Given the description of an element on the screen output the (x, y) to click on. 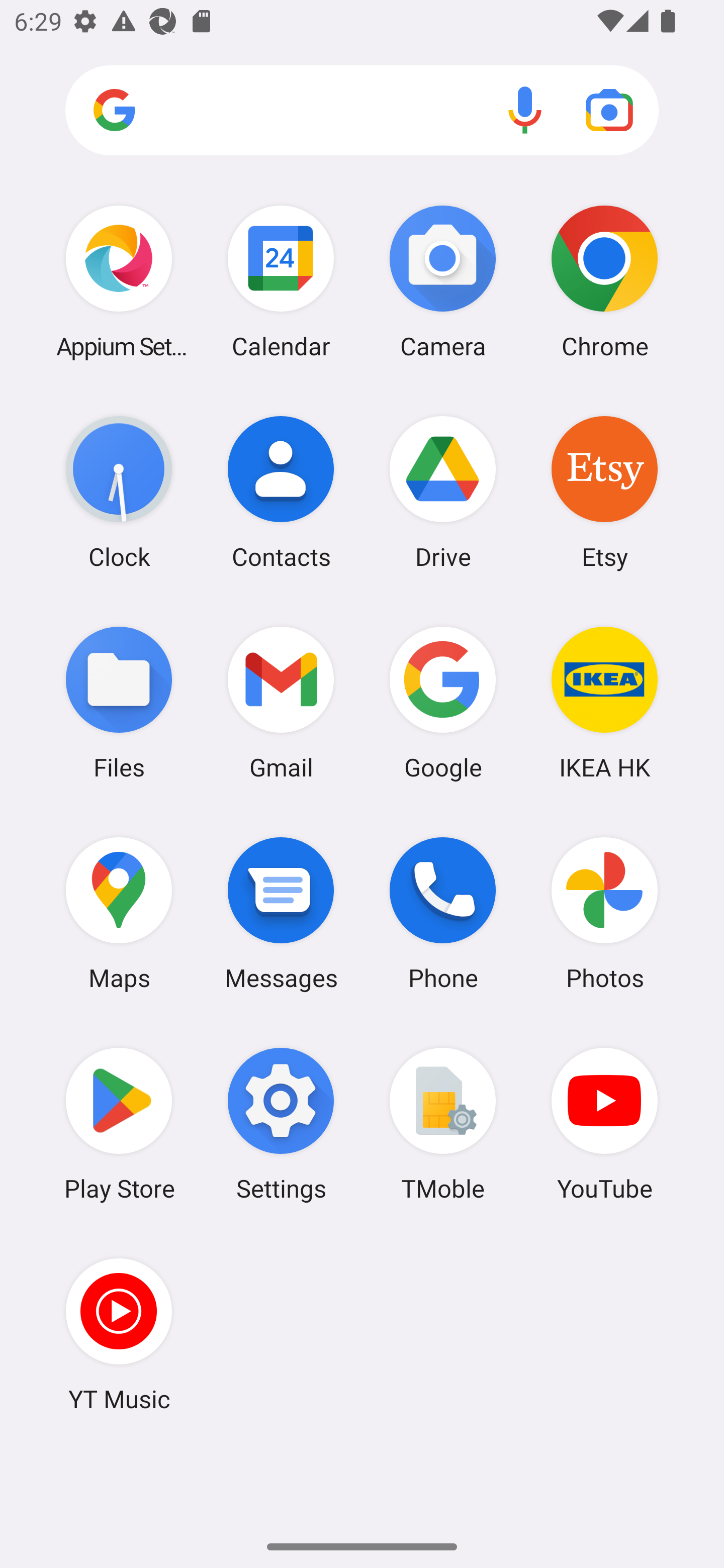
Search apps, web and more (361, 110)
Voice search (524, 109)
Google Lens (608, 109)
Appium Settings (118, 281)
Calendar (280, 281)
Camera (443, 281)
Chrome (604, 281)
Clock (118, 492)
Contacts (280, 492)
Drive (443, 492)
Etsy (604, 492)
Files (118, 702)
Gmail (280, 702)
Google (443, 702)
IKEA HK (604, 702)
Maps (118, 913)
Messages (280, 913)
Phone (443, 913)
Photos (604, 913)
Play Store (118, 1124)
Settings (280, 1124)
TMoble (443, 1124)
YouTube (604, 1124)
YT Music (118, 1334)
